Given the description of an element on the screen output the (x, y) to click on. 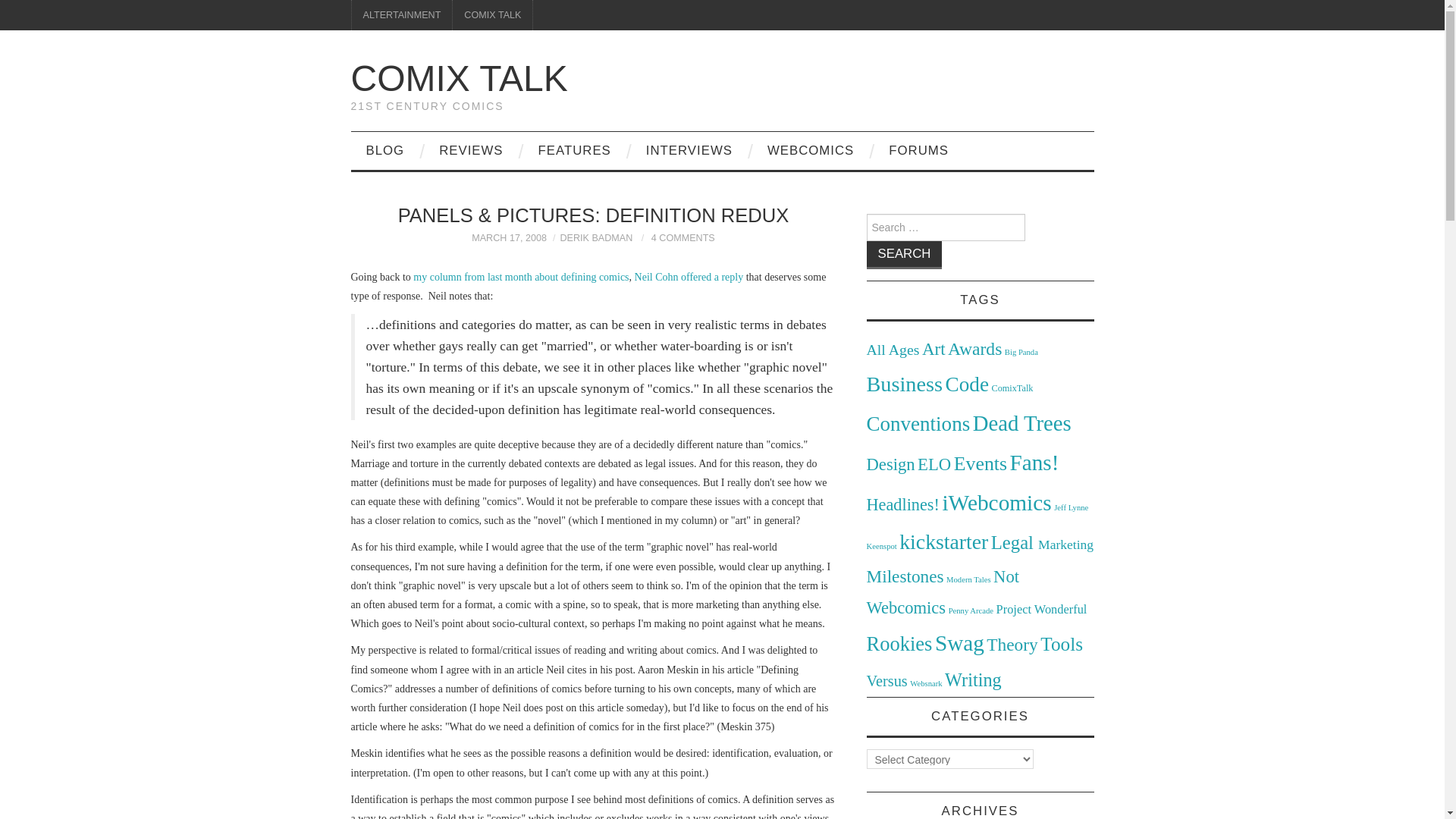
DERIK BADMAN (595, 237)
Search for: (945, 226)
COMIX TALK (492, 15)
Fans! (1034, 462)
Comix Talk (458, 78)
Search (904, 254)
FORUMS (918, 150)
Design (890, 464)
Art (932, 348)
All Ages (892, 349)
